Given the description of an element on the screen output the (x, y) to click on. 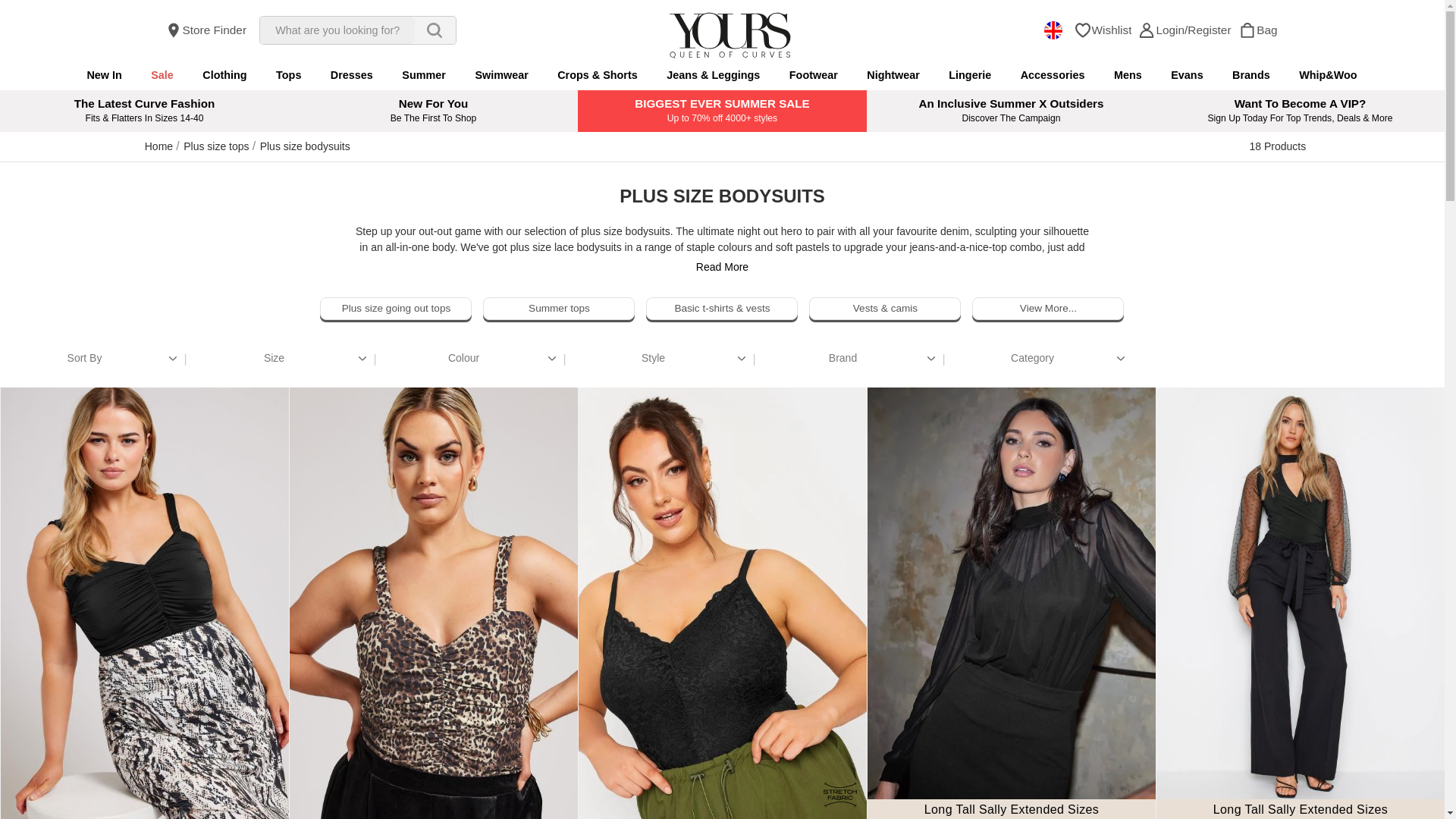
Store Finder (206, 30)
Store Finder (206, 30)
Wishlist (1103, 30)
Select Country (1053, 30)
Wishlist (1082, 29)
Search (434, 30)
Bag (1247, 29)
New In (103, 75)
View your Wishlist (1103, 30)
